Given the description of an element on the screen output the (x, y) to click on. 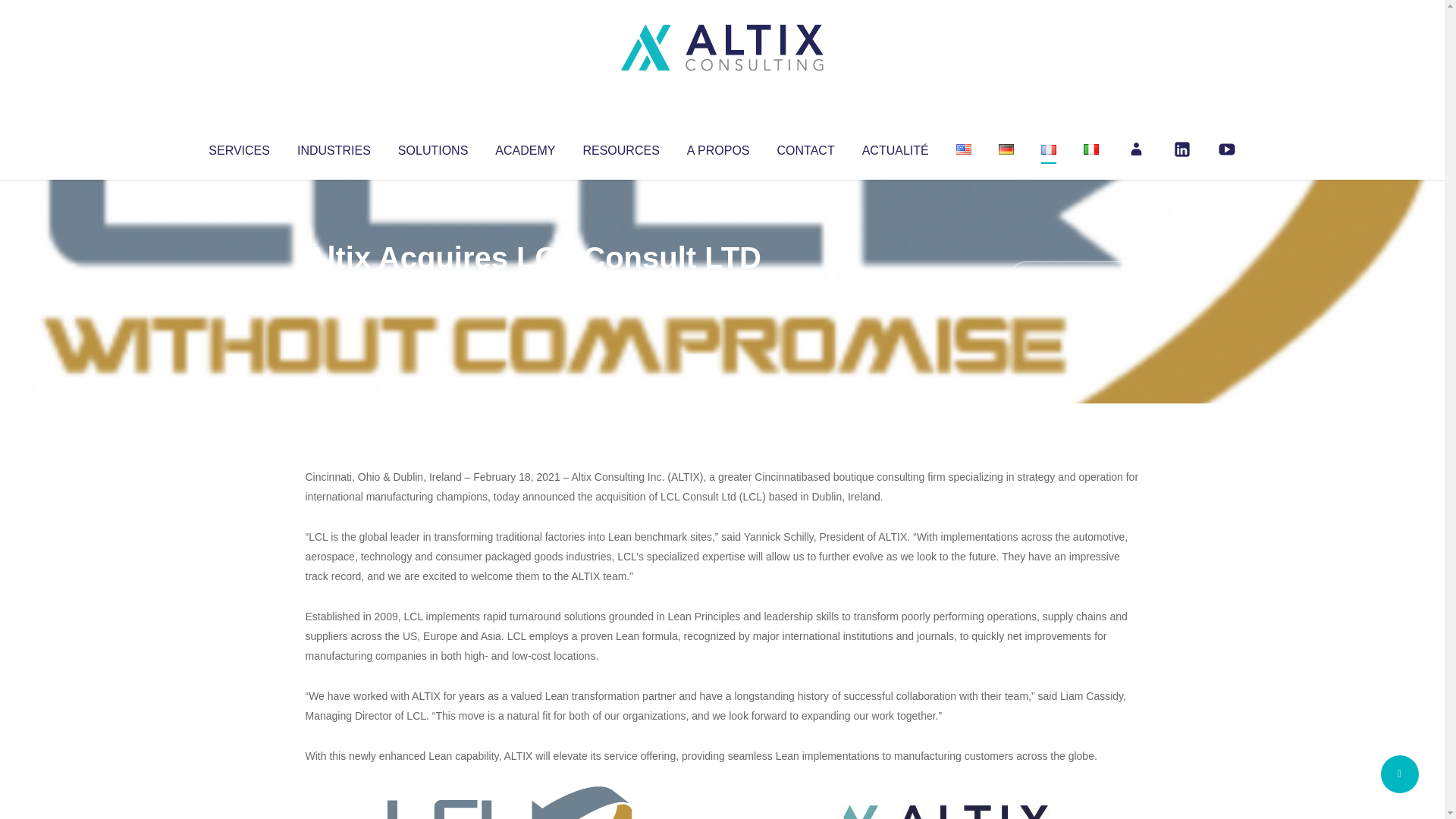
Articles par Altix (333, 287)
INDUSTRIES (334, 146)
RESOURCES (620, 146)
Uncategorized (530, 287)
SERVICES (238, 146)
Altix (333, 287)
A PROPOS (718, 146)
No Comments (1073, 278)
ACADEMY (524, 146)
SOLUTIONS (432, 146)
